Given the description of an element on the screen output the (x, y) to click on. 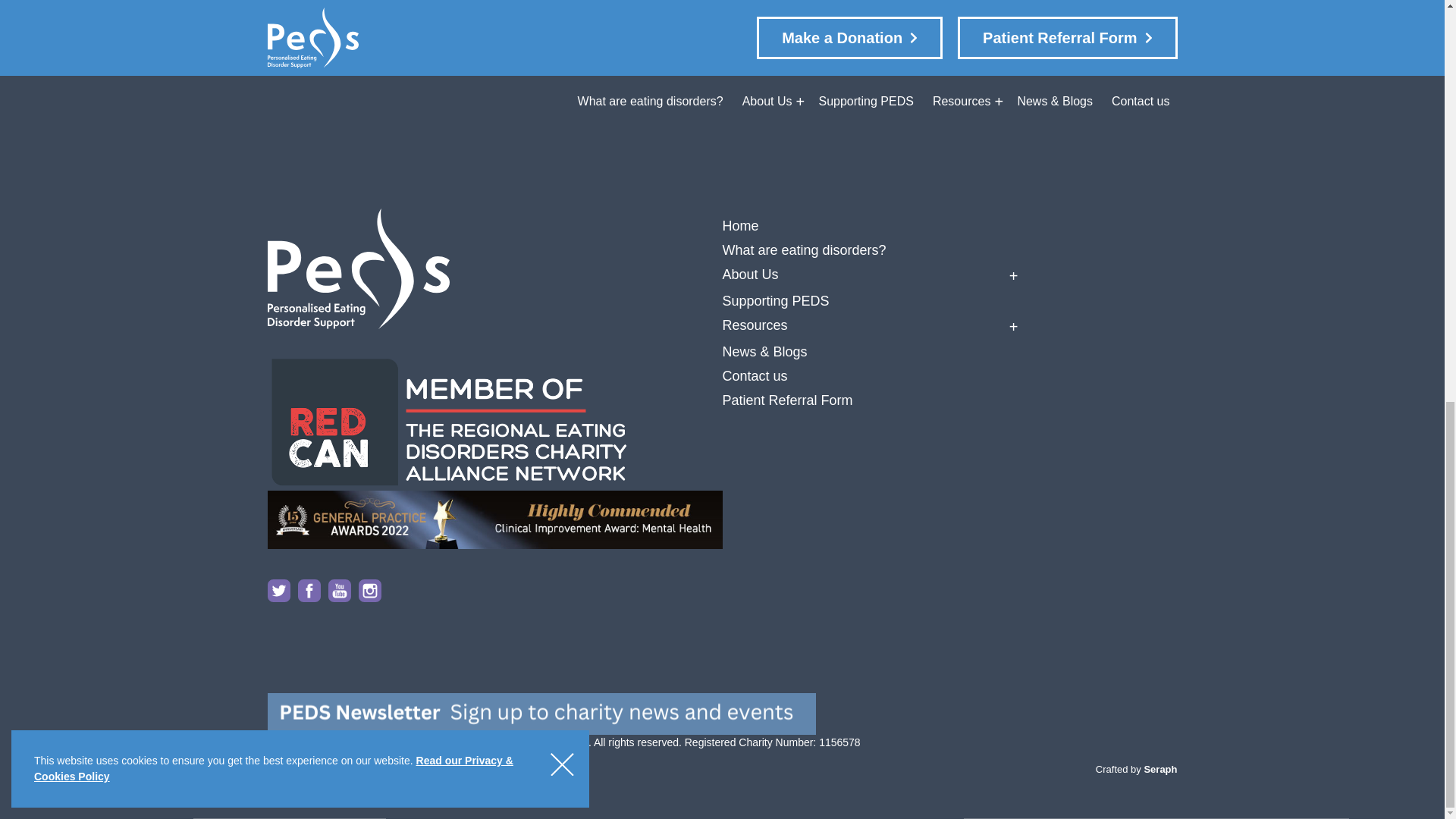
Facebook (312, 590)
Youtube (342, 590)
Twitter (281, 590)
Instagram (373, 590)
